Given the description of an element on the screen output the (x, y) to click on. 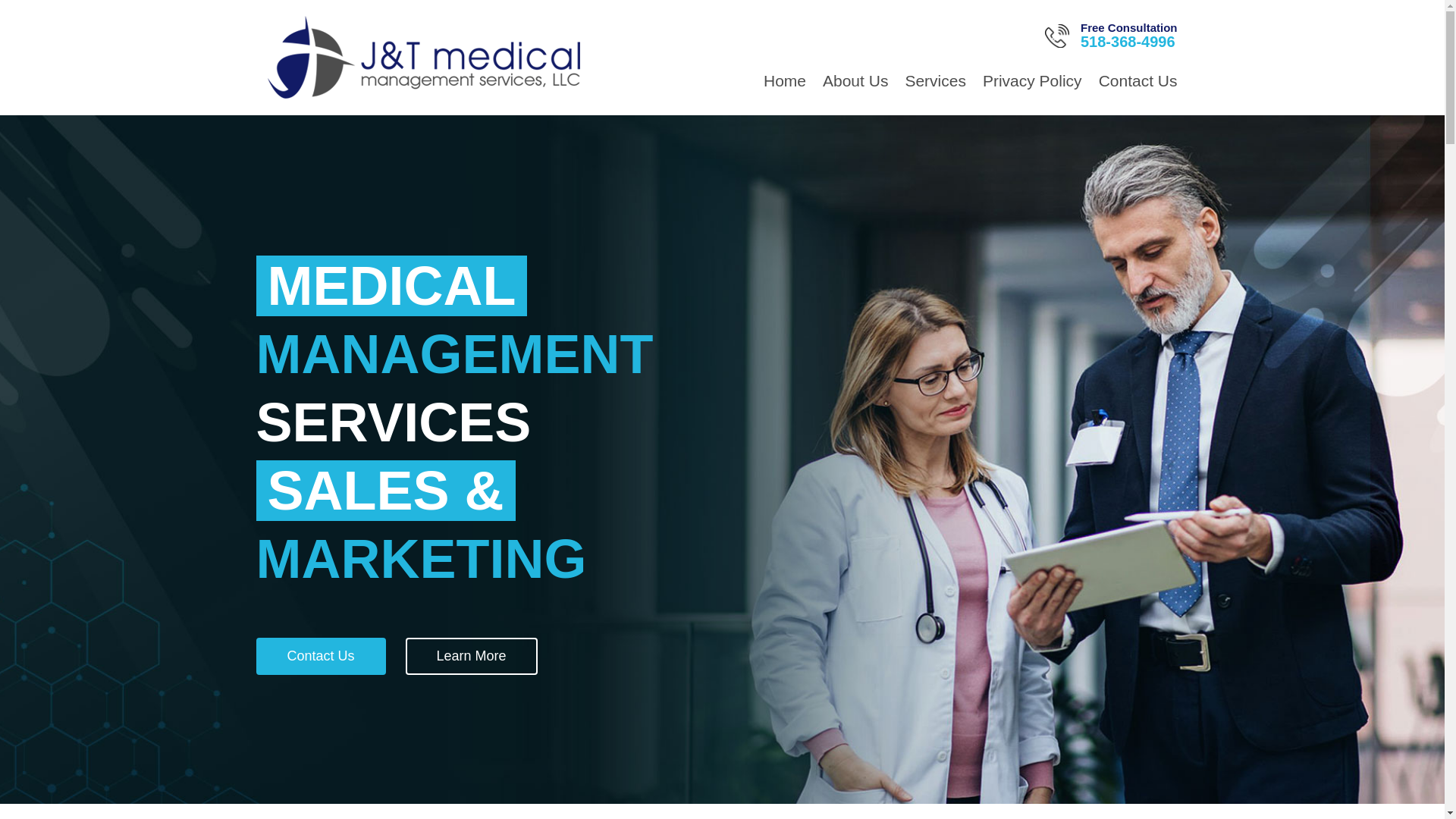
Home (784, 84)
Contact Us (320, 656)
About Us (855, 84)
Privacy Policy (1031, 84)
Services (935, 84)
Learn More (471, 656)
logo (422, 56)
Contact Us (1138, 84)
518-368-4996 (1127, 41)
